Given the description of an element on the screen output the (x, y) to click on. 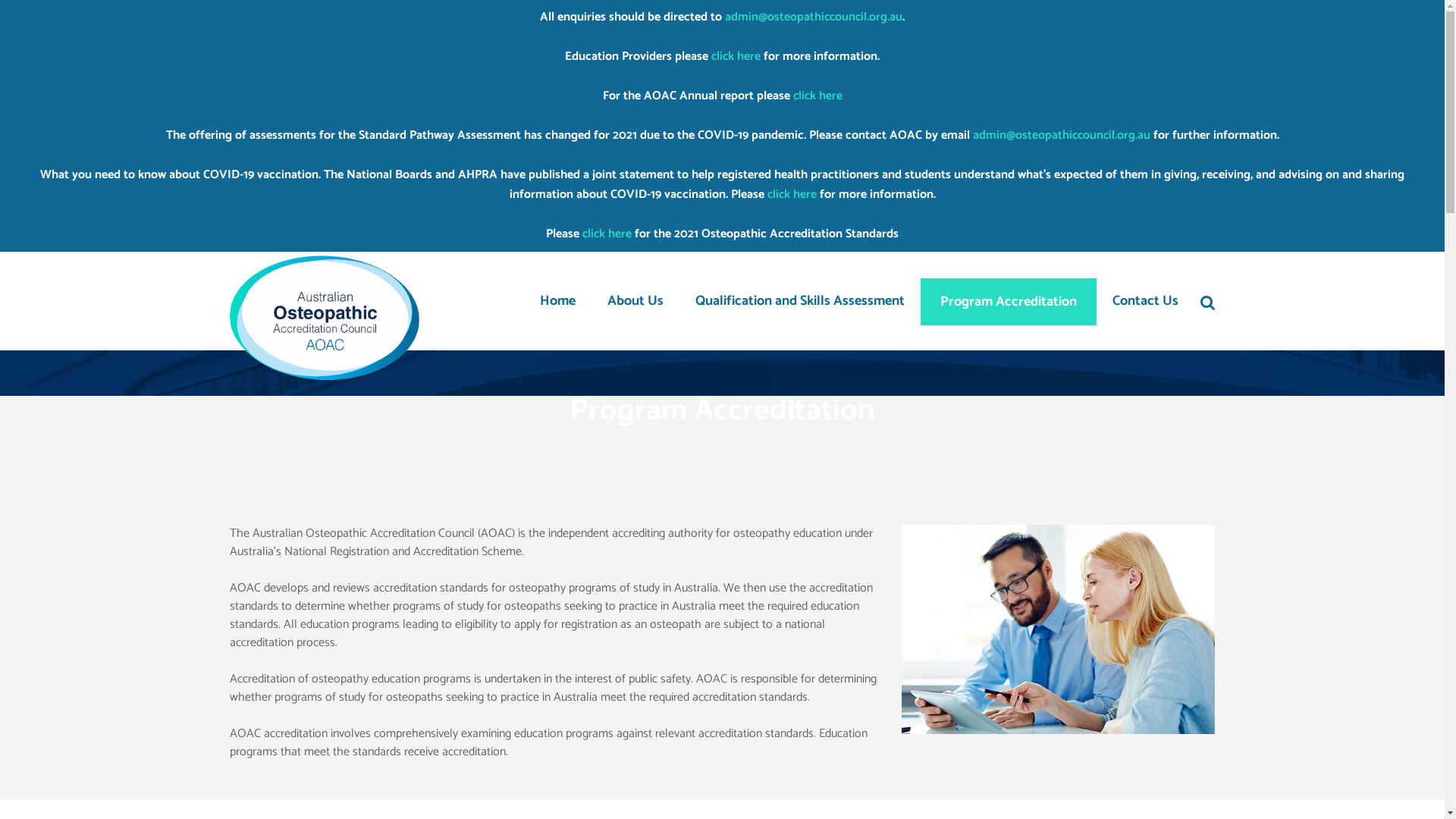
click here Element type: text (606, 233)
admin@osteopathiccouncil.org.au Element type: text (813, 16)
Qualification and Skills Assessment Element type: text (799, 300)
Home Element type: text (556, 300)
admin@osteopathiccouncil.org.au Element type: text (1060, 135)
click here Element type: text (817, 95)
About Us Element type: text (635, 300)
click here Element type: text (735, 56)
Program Accreditation Element type: text (1008, 300)
click here Element type: text (791, 194)
Contact Us Element type: text (1145, 300)
